Given the description of an element on the screen output the (x, y) to click on. 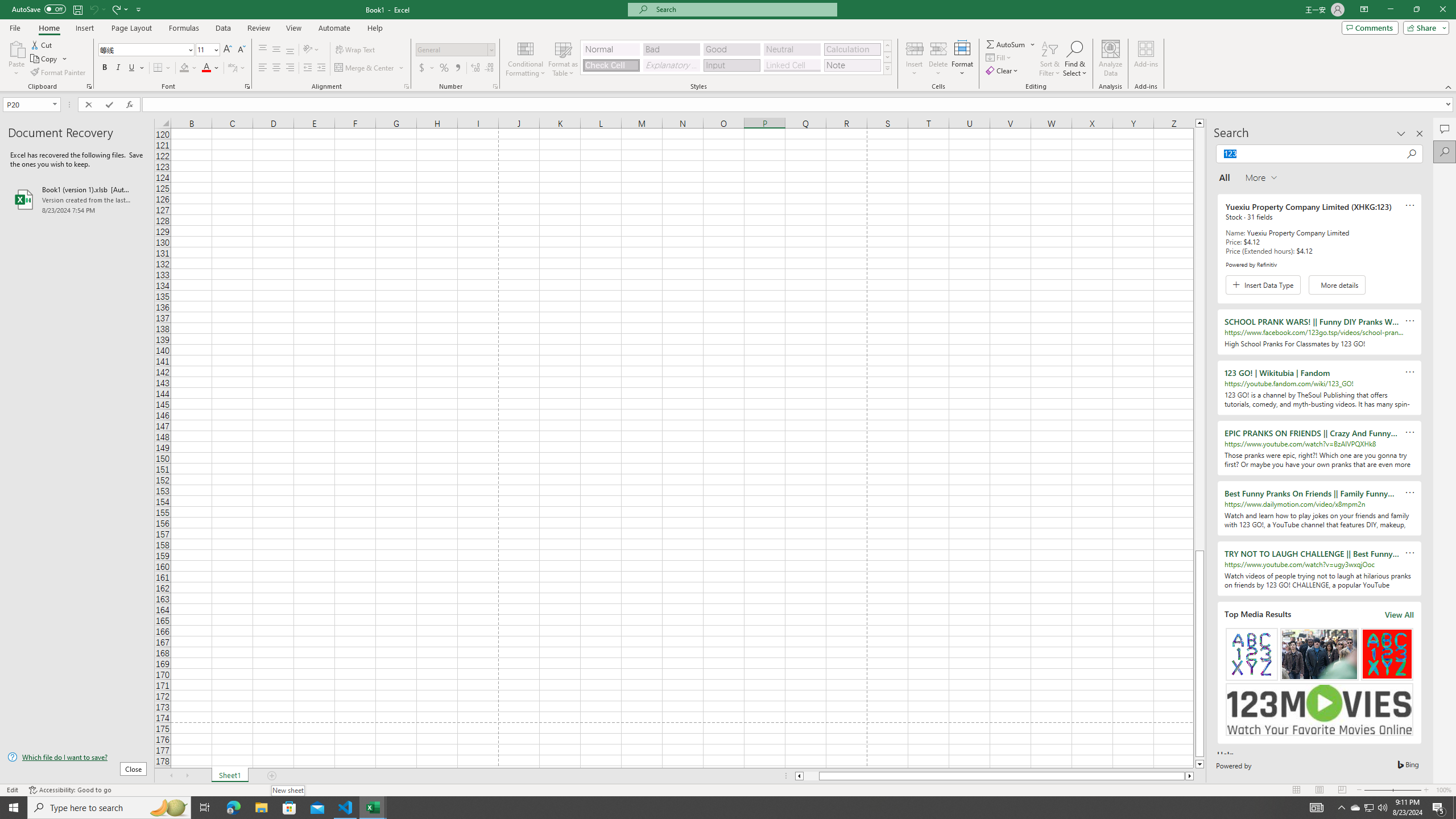
Explanatory Text (671, 65)
Show Phonetic Field (236, 67)
Accounting Number Format (426, 67)
Fill Color RGB(255, 255, 0) (183, 67)
Input (731, 65)
Fill Color (188, 67)
Copy (49, 58)
